Given the description of an element on the screen output the (x, y) to click on. 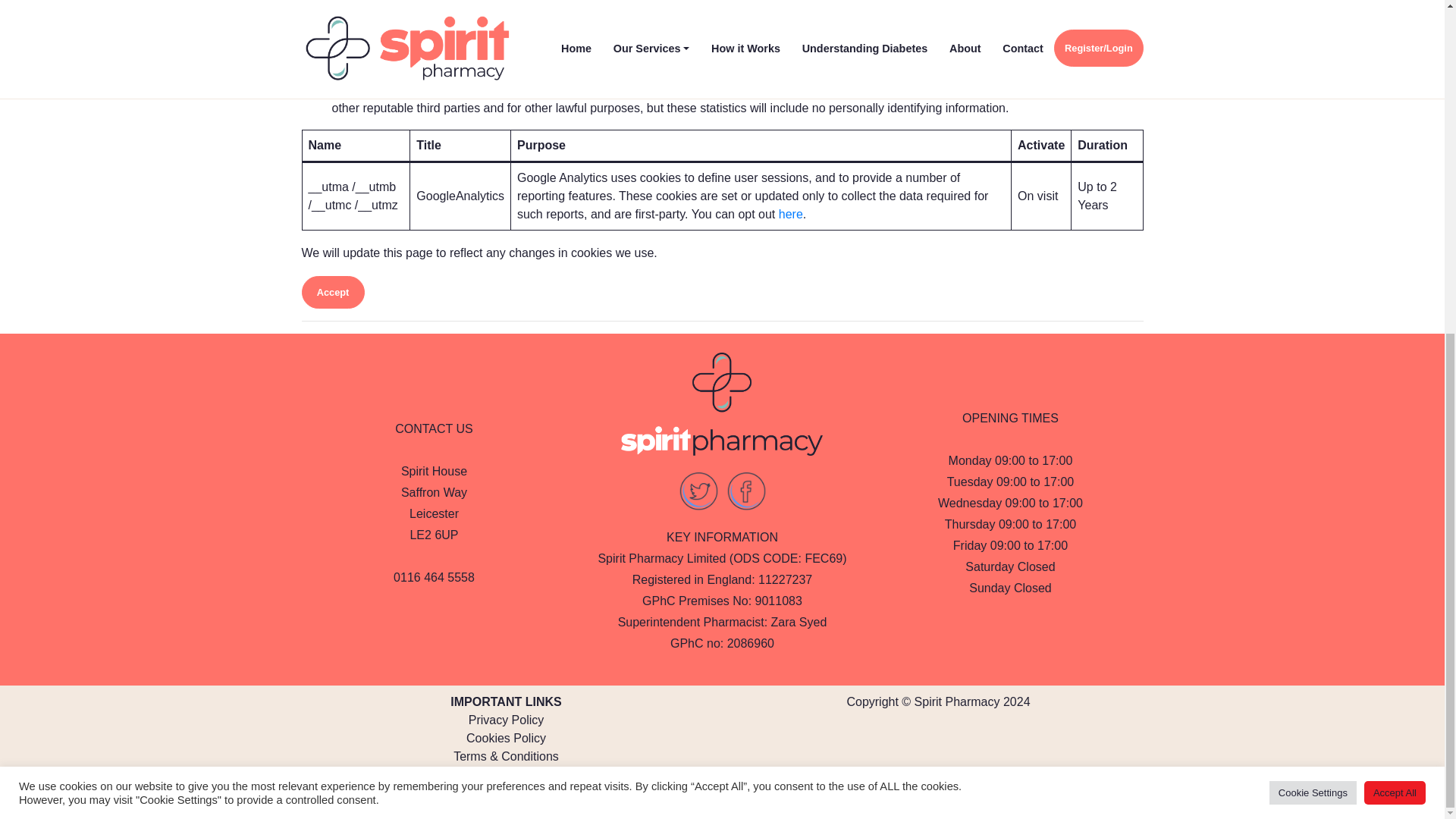
Privacy Policy (506, 719)
Accept (333, 292)
here (940, 794)
Accept All (1394, 236)
Cookies Policy (505, 738)
here (790, 214)
Cookie Settings (1312, 236)
